Given the description of an element on the screen output the (x, y) to click on. 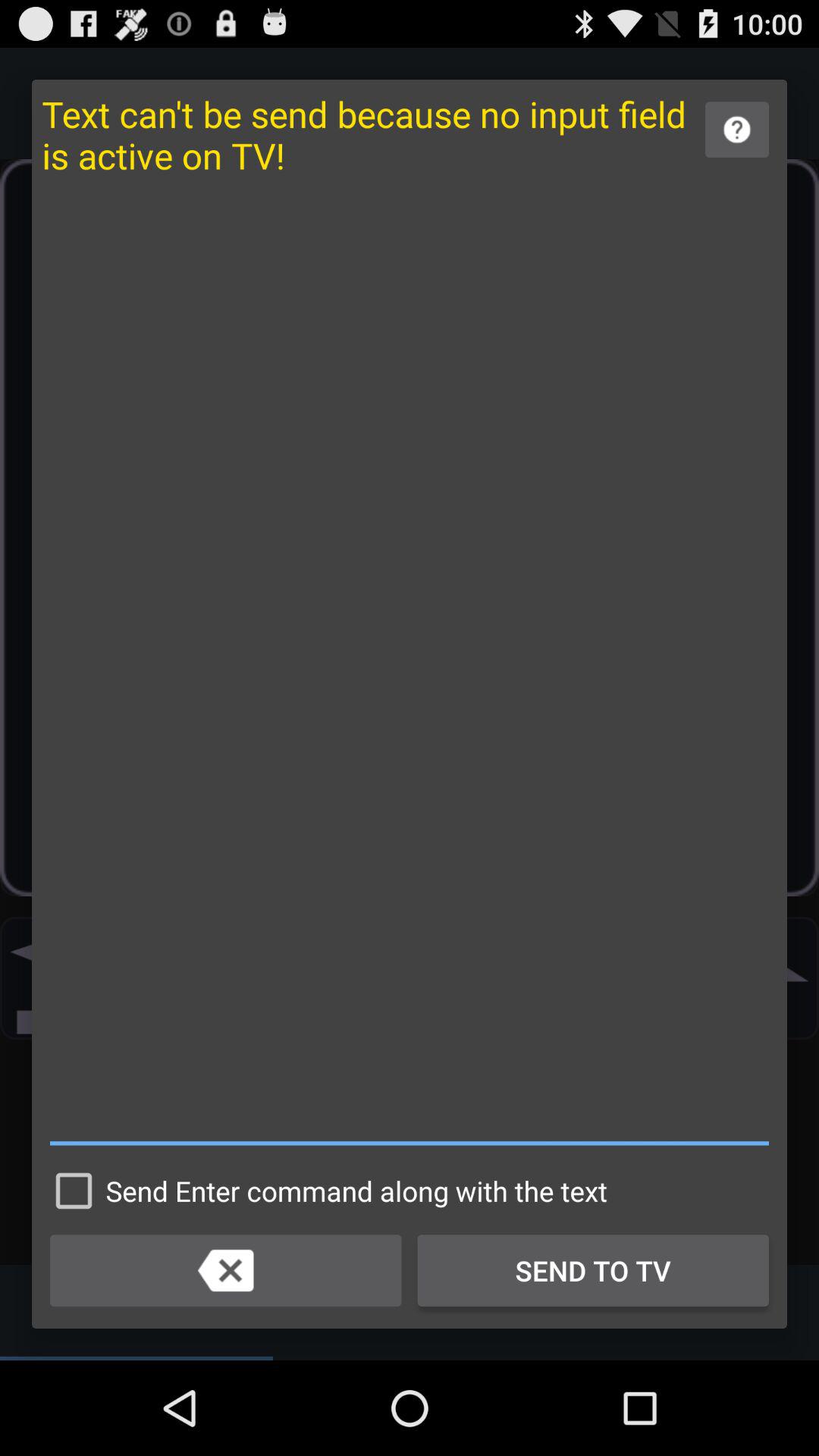
open icon below text can t (409, 669)
